Given the description of an element on the screen output the (x, y) to click on. 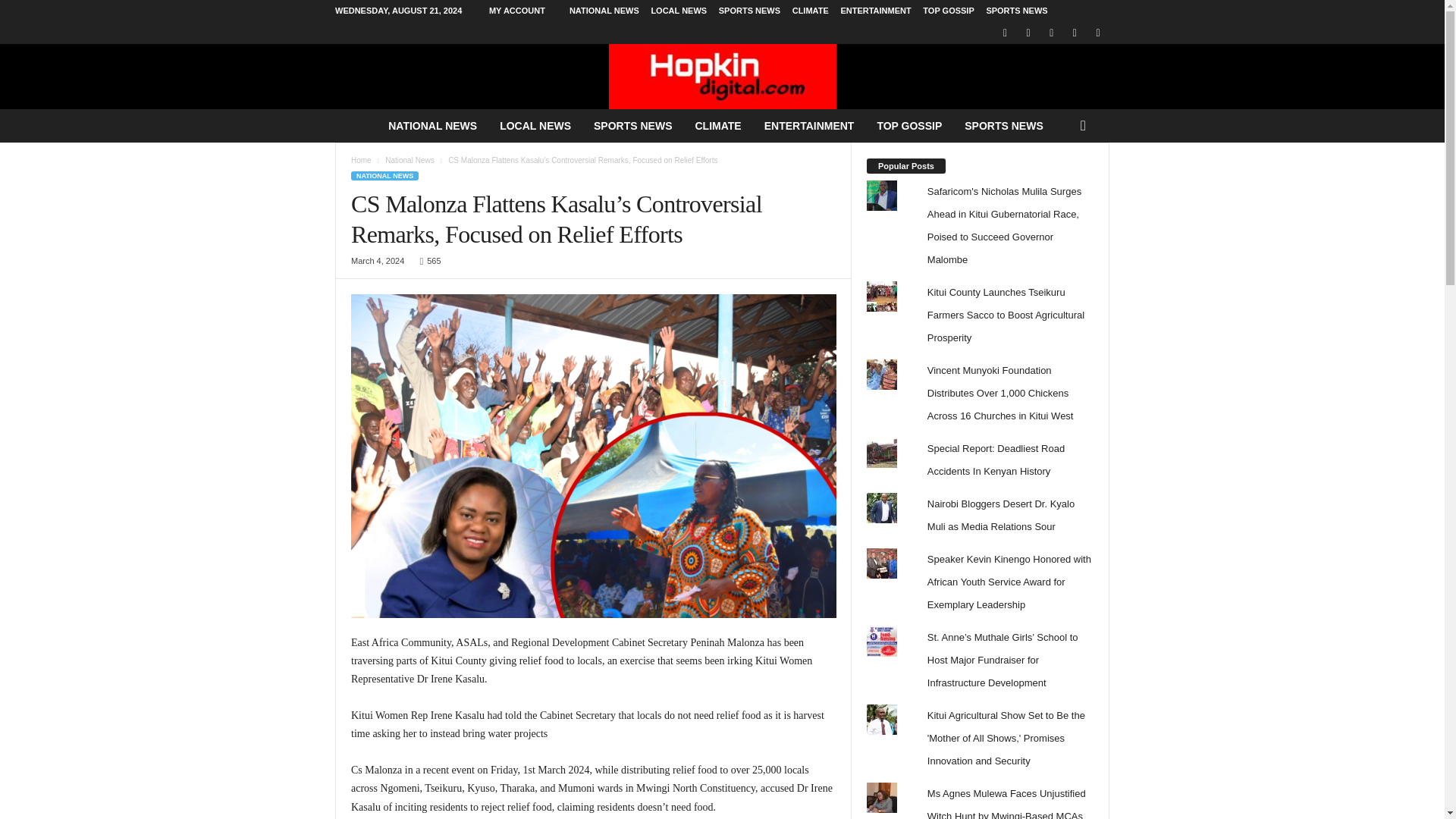
NATIONAL NEWS (604, 10)
LOCAL NEWS (678, 10)
THE FUTURE IS DIGITAL (721, 76)
TOP GOSSIP (948, 10)
View all posts in National News (409, 160)
NATIONAL NEWS (432, 125)
SPORTS NEWS (1015, 10)
ENTERTAINMENT (875, 10)
LOCAL NEWS (534, 125)
CLIMATE (810, 10)
